Given the description of an element on the screen output the (x, y) to click on. 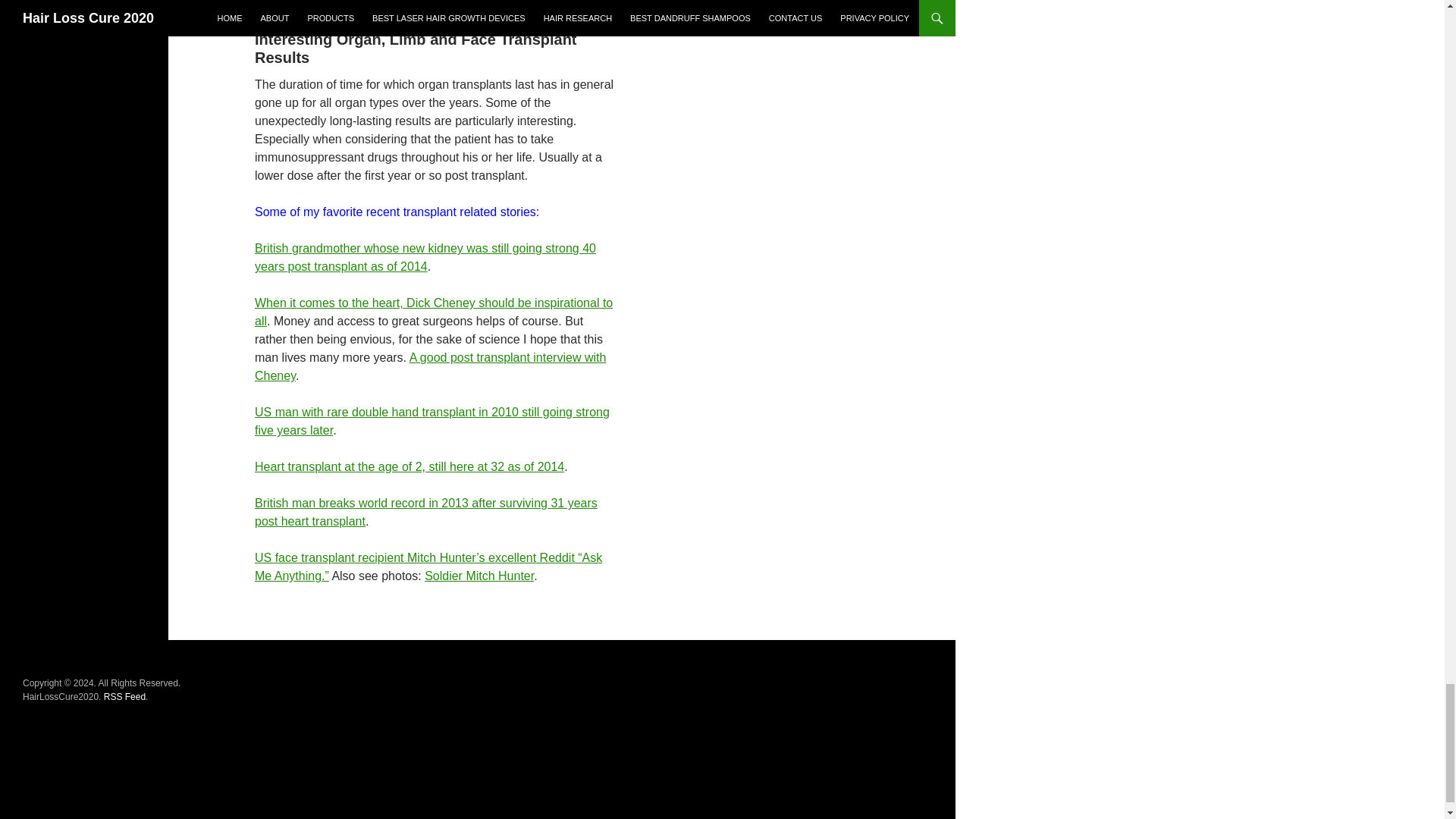
Dick Cheney Heart Transplant (433, 311)
Chris Pollock -- Double Hand Transplant (432, 420)
Dick Cheney Interview -- Dr. Sanjay Gupta (429, 366)
Mitch Hunter -- Face Transplant, Reddit AMA (428, 566)
Lizzy Craze -- Heart Transplant (409, 466)
Mitch Hunter Face Transplant (479, 575)
